Given the description of an element on the screen output the (x, y) to click on. 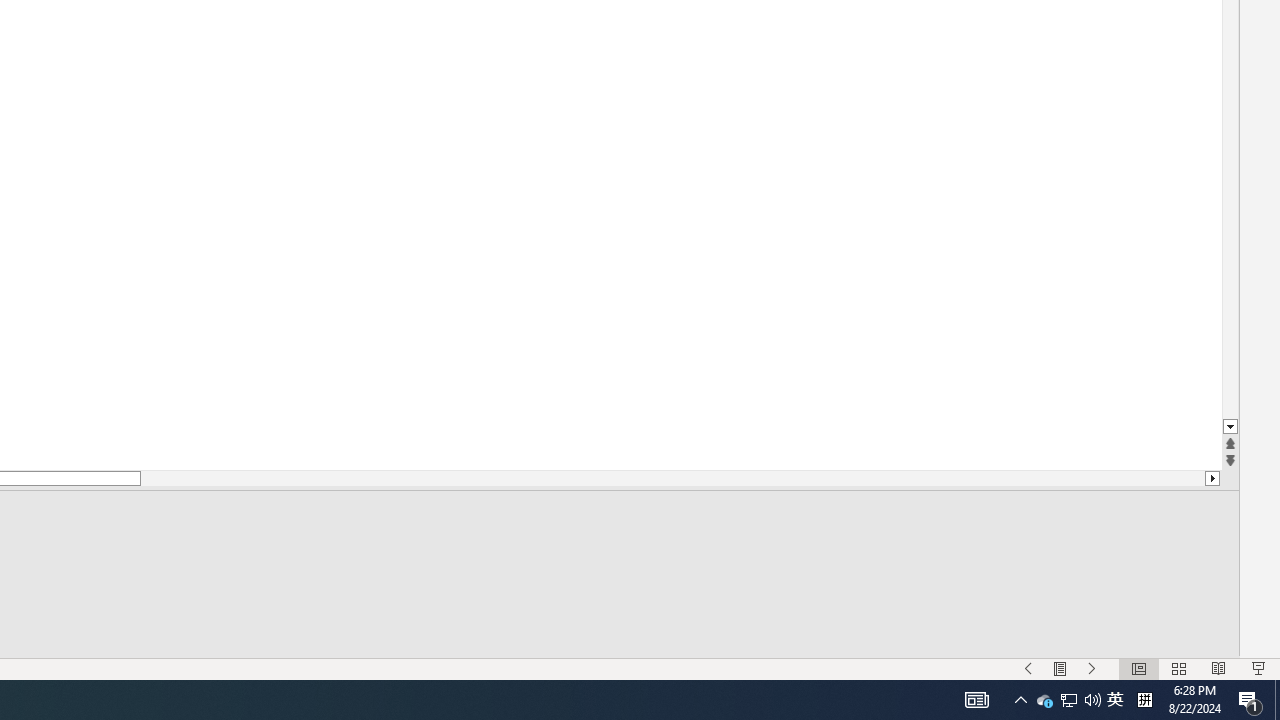
Slide Show Next On (1092, 668)
Slide Show Previous On (1028, 668)
Menu On (1060, 668)
